Given the description of an element on the screen output the (x, y) to click on. 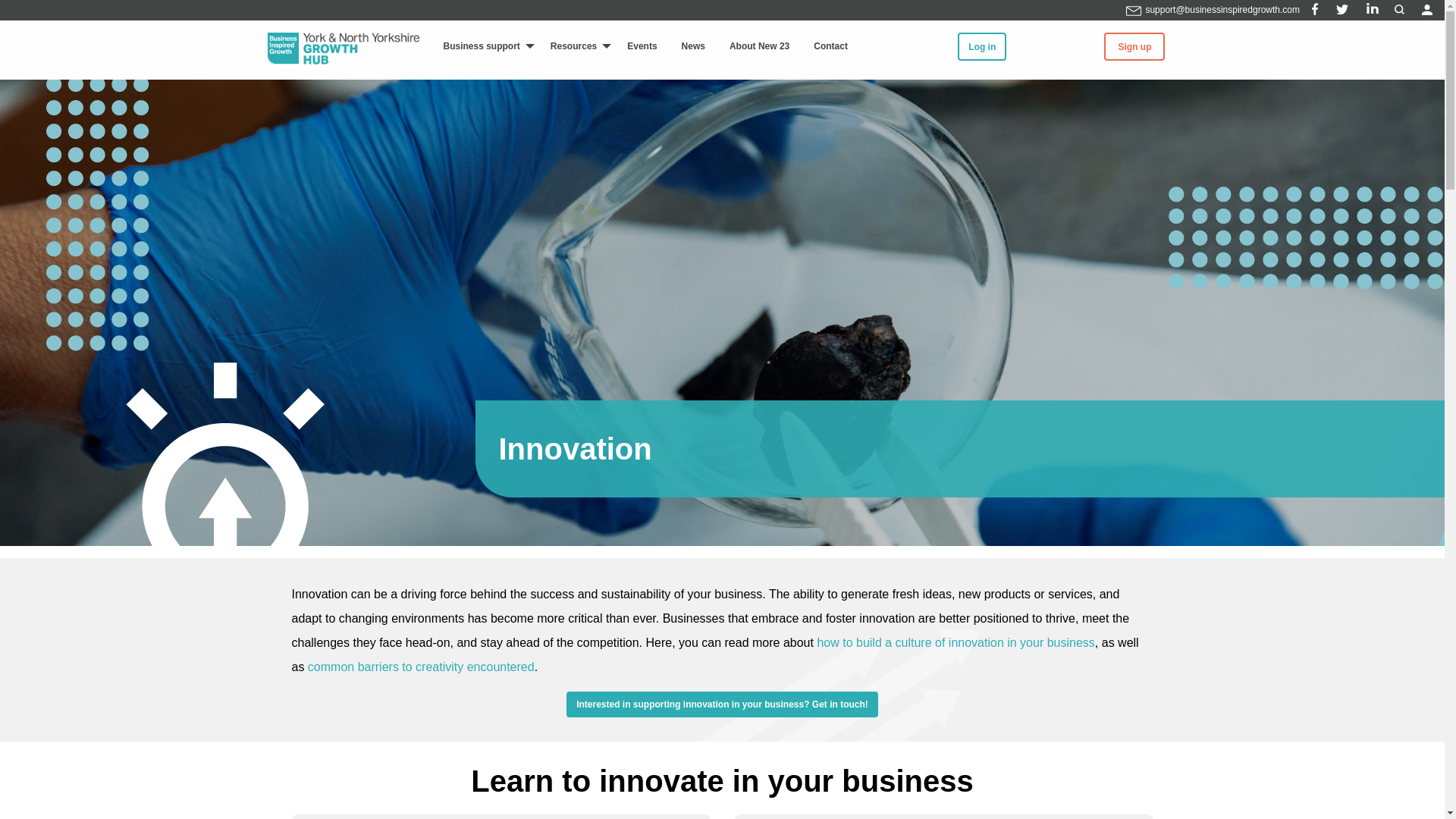
Business support (483, 45)
